Given the description of an element on the screen output the (x, y) to click on. 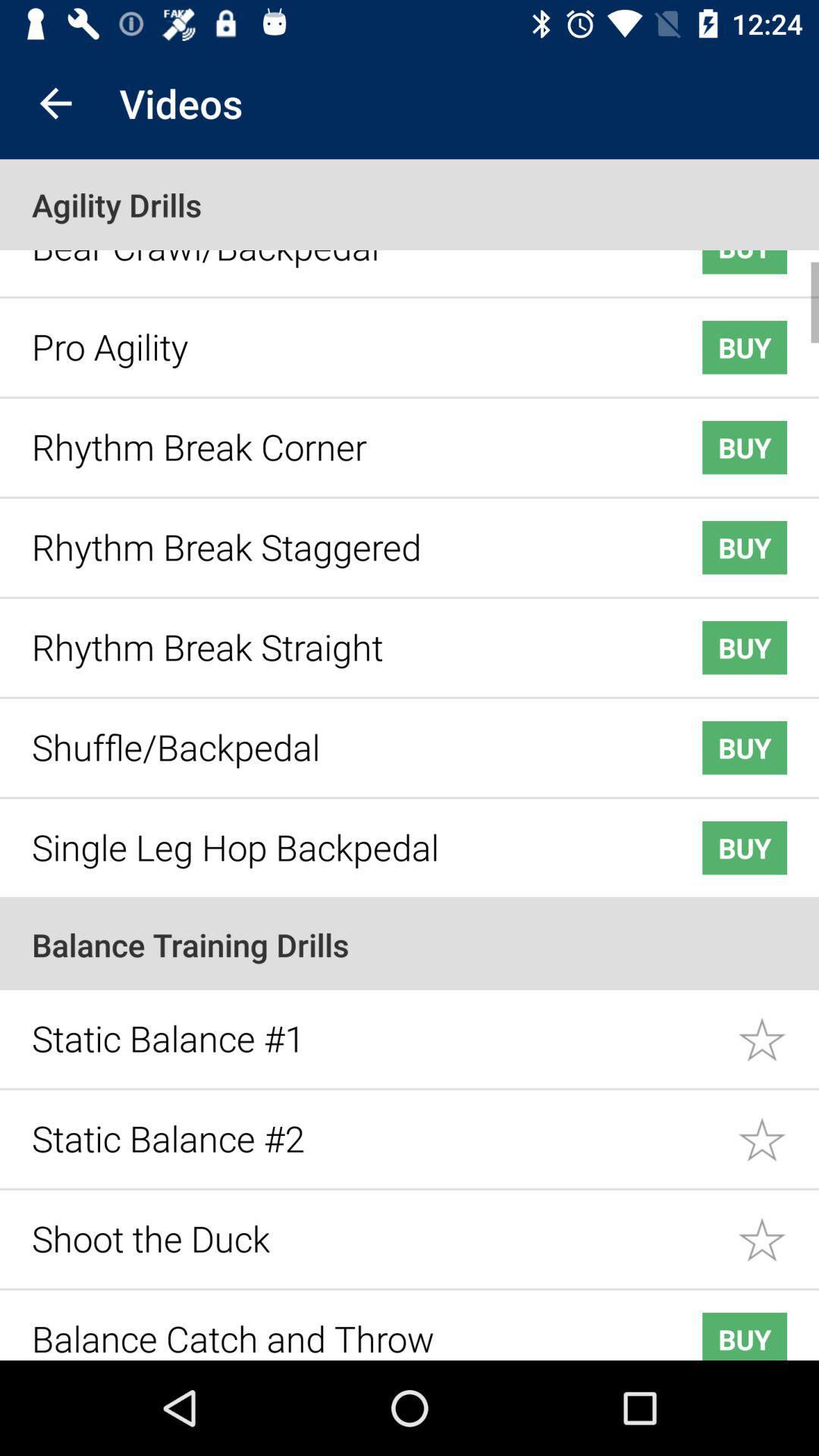
choose the item above the agility drills icon (55, 103)
